Given the description of an element on the screen output the (x, y) to click on. 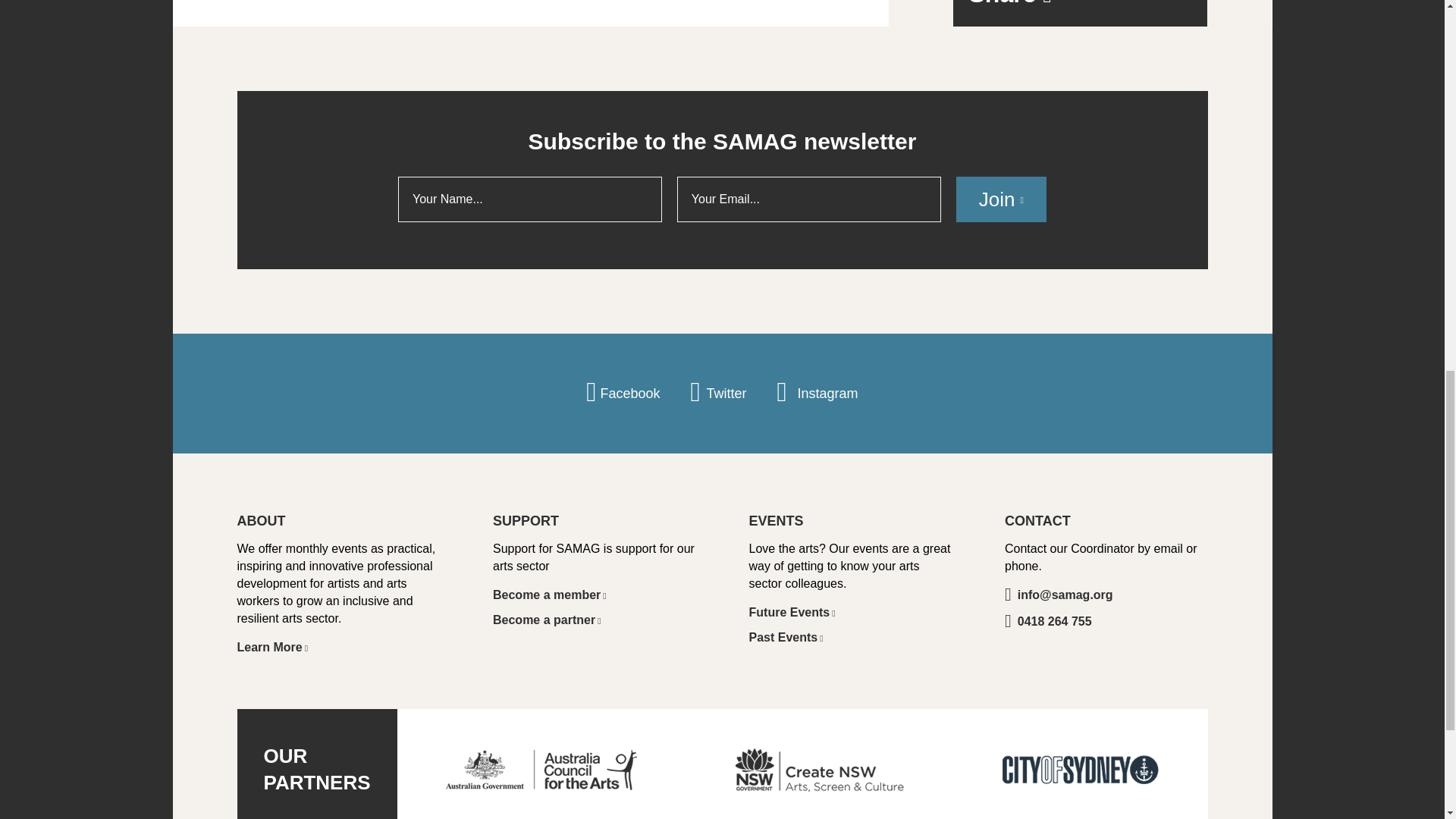
Facebook (622, 393)
Instagram (816, 393)
Twitter (718, 393)
